Given the description of an element on the screen output the (x, y) to click on. 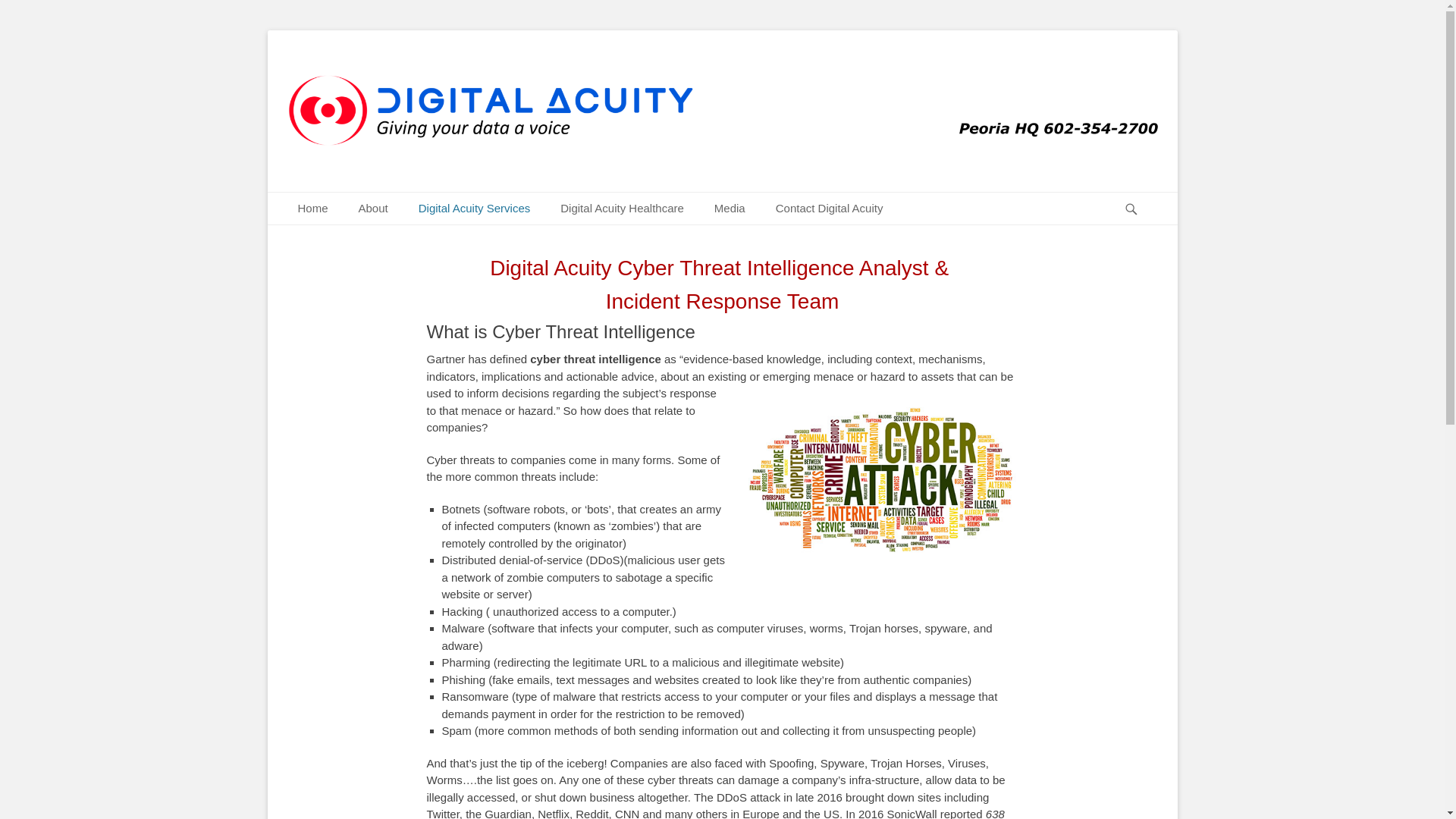
Digital Acuity Services (474, 208)
Home (312, 208)
Contact Digital Acuity (829, 208)
Digital Acuity Healthcare (621, 208)
About (373, 208)
Discover FCS: Forensics E-Discovery and More (373, 208)
Media (729, 208)
Digital Acuity Website (440, 78)
